Given the description of an element on the screen output the (x, y) to click on. 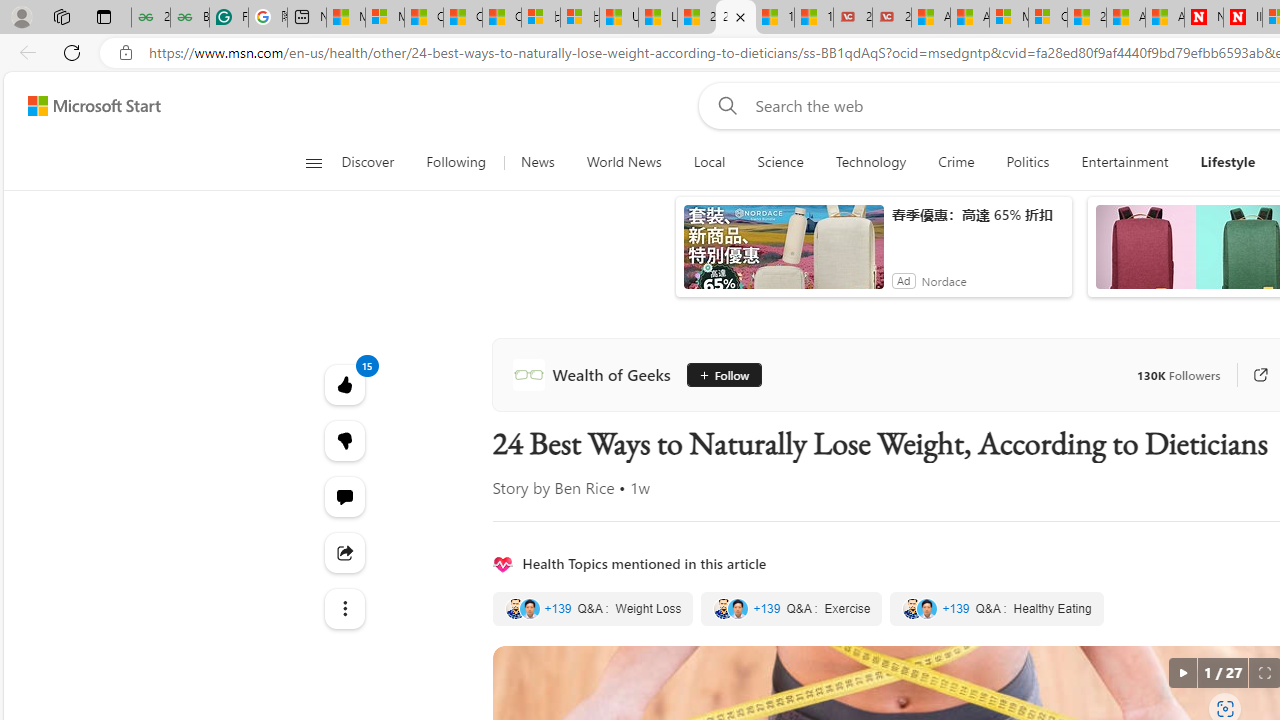
Lifestyle - MSN (657, 17)
15 (343, 440)
Weight Loss (592, 608)
